Given the description of an element on the screen output the (x, y) to click on. 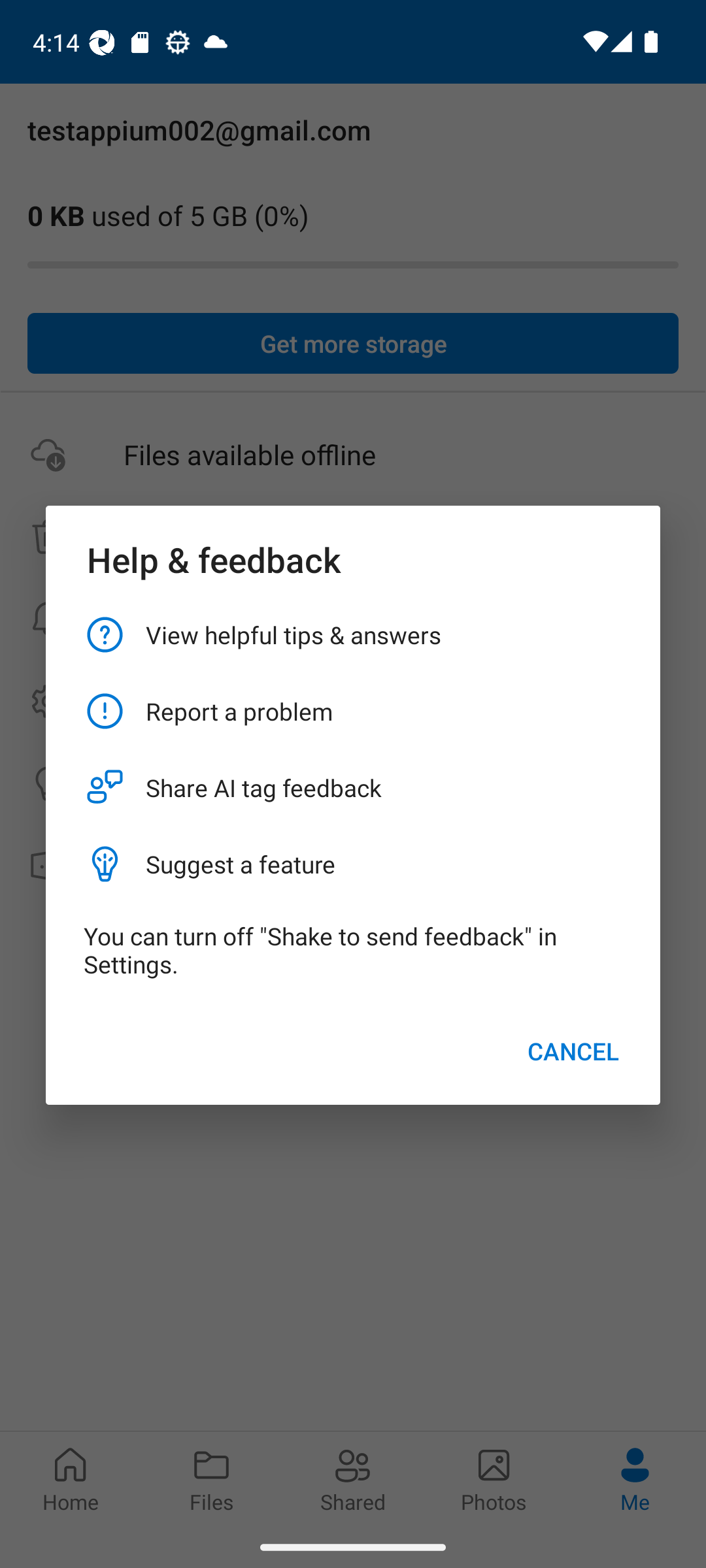
View helpful tips & answers (352, 633)
Report a problem (352, 710)
Share AI tag feedback (352, 787)
Suggest a feature (352, 863)
CANCEL (573, 1051)
